Given the description of an element on the screen output the (x, y) to click on. 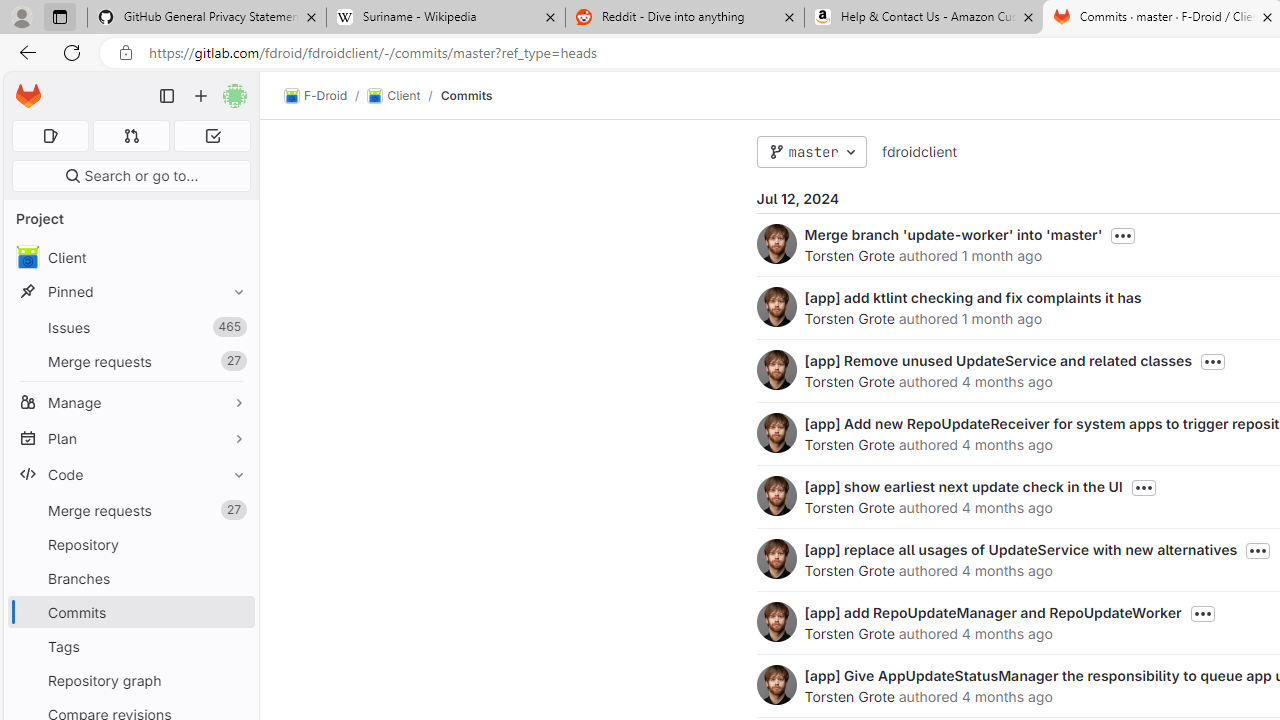
Merge requests27 (130, 510)
To-Do list 0 (212, 136)
Tags (130, 646)
Unpin Merge requests (234, 510)
Repository graph (130, 679)
Torsten Grote (848, 696)
Pin Branches (234, 578)
Commits (466, 95)
Client/ (404, 96)
avatar (27, 257)
Merge branch 'update-worker' into 'master' (953, 234)
[app] add RepoUpdateManager and RepoUpdateWorker (992, 612)
